Given the description of an element on the screen output the (x, y) to click on. 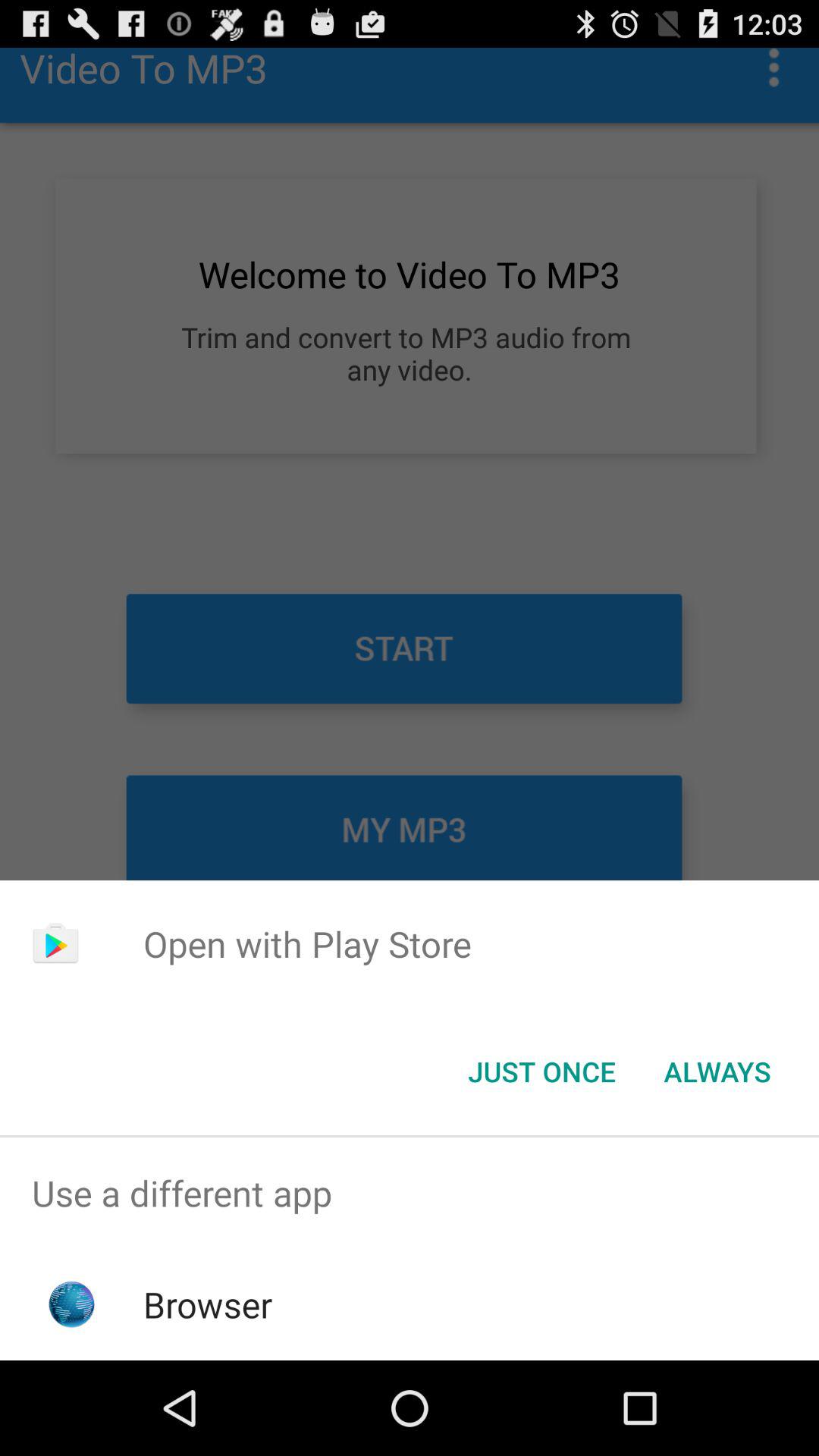
select item at the bottom right corner (717, 1071)
